Given the description of an element on the screen output the (x, y) to click on. 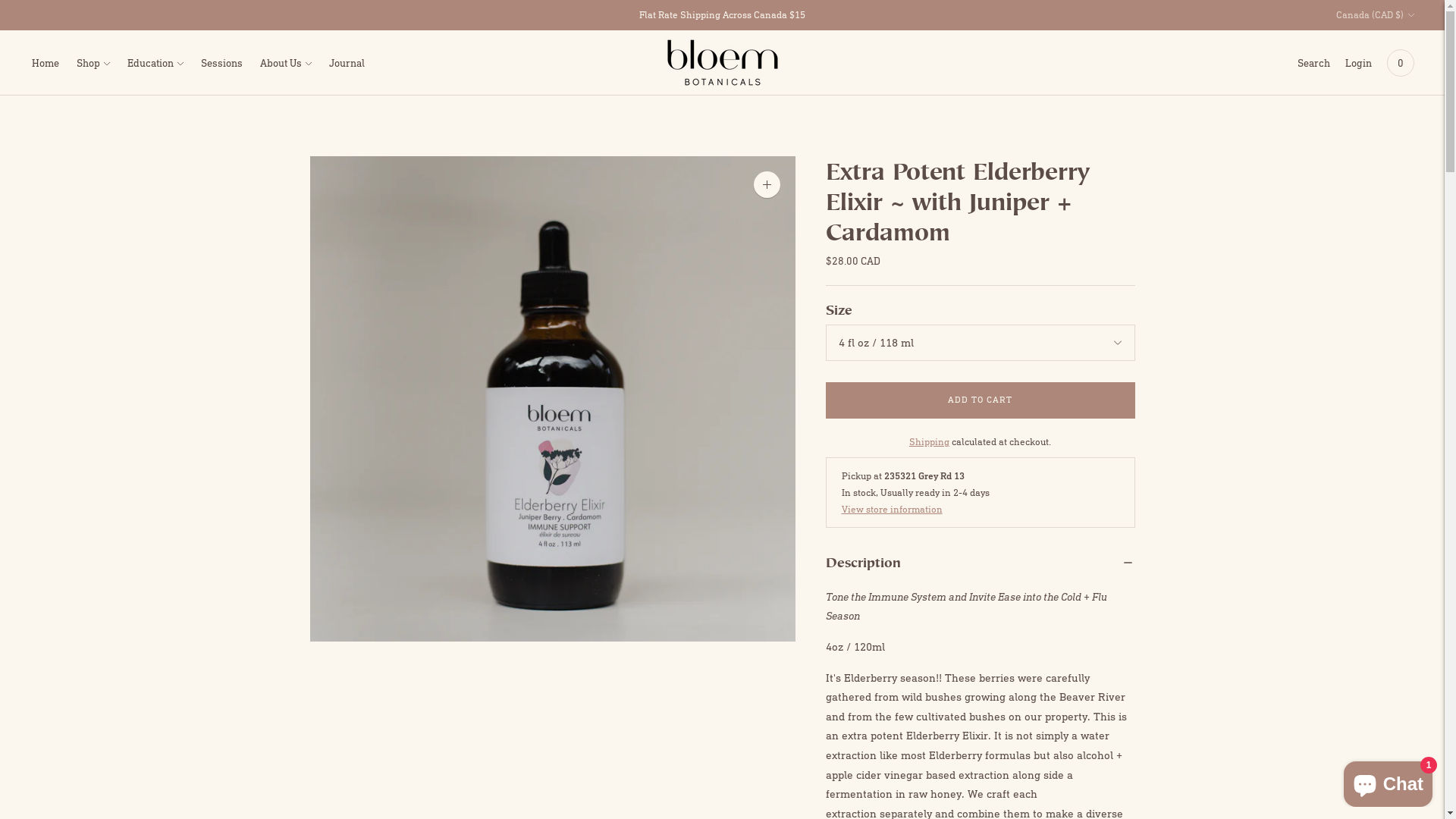
Shipping Element type: text (929, 441)
View store information Element type: text (891, 508)
Login Element type: text (1358, 61)
Canada (CAD $) Element type: text (1375, 14)
Shopify online store chat Element type: hover (1388, 780)
Sessions Element type: text (221, 61)
ADD TO CART Element type: text (979, 400)
Search Element type: text (1313, 61)
About Us Element type: text (285, 61)
Shop Element type: text (92, 61)
Home Element type: text (45, 61)
0 Element type: text (1400, 61)
Zoom image Element type: text (766, 184)
Description Element type: text (979, 562)
Education Element type: text (155, 61)
Journal Element type: text (346, 61)
